Given the description of an element on the screen output the (x, y) to click on. 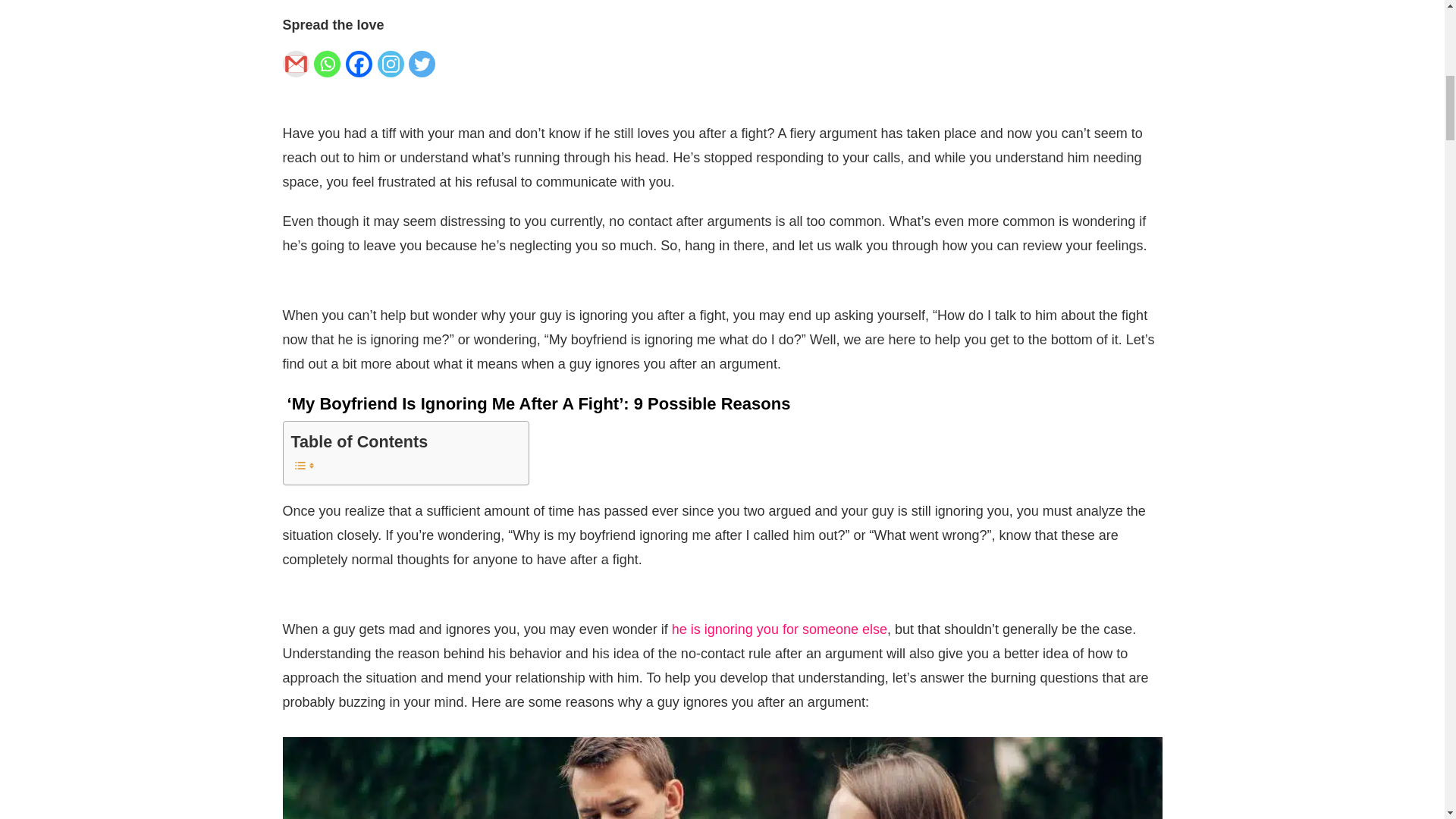
Facebook (361, 66)
Whatsapp (330, 66)
Instagram (393, 66)
Total Shares (460, 82)
Google Gmail (298, 66)
Twitter (425, 66)
